Given the description of an element on the screen output the (x, y) to click on. 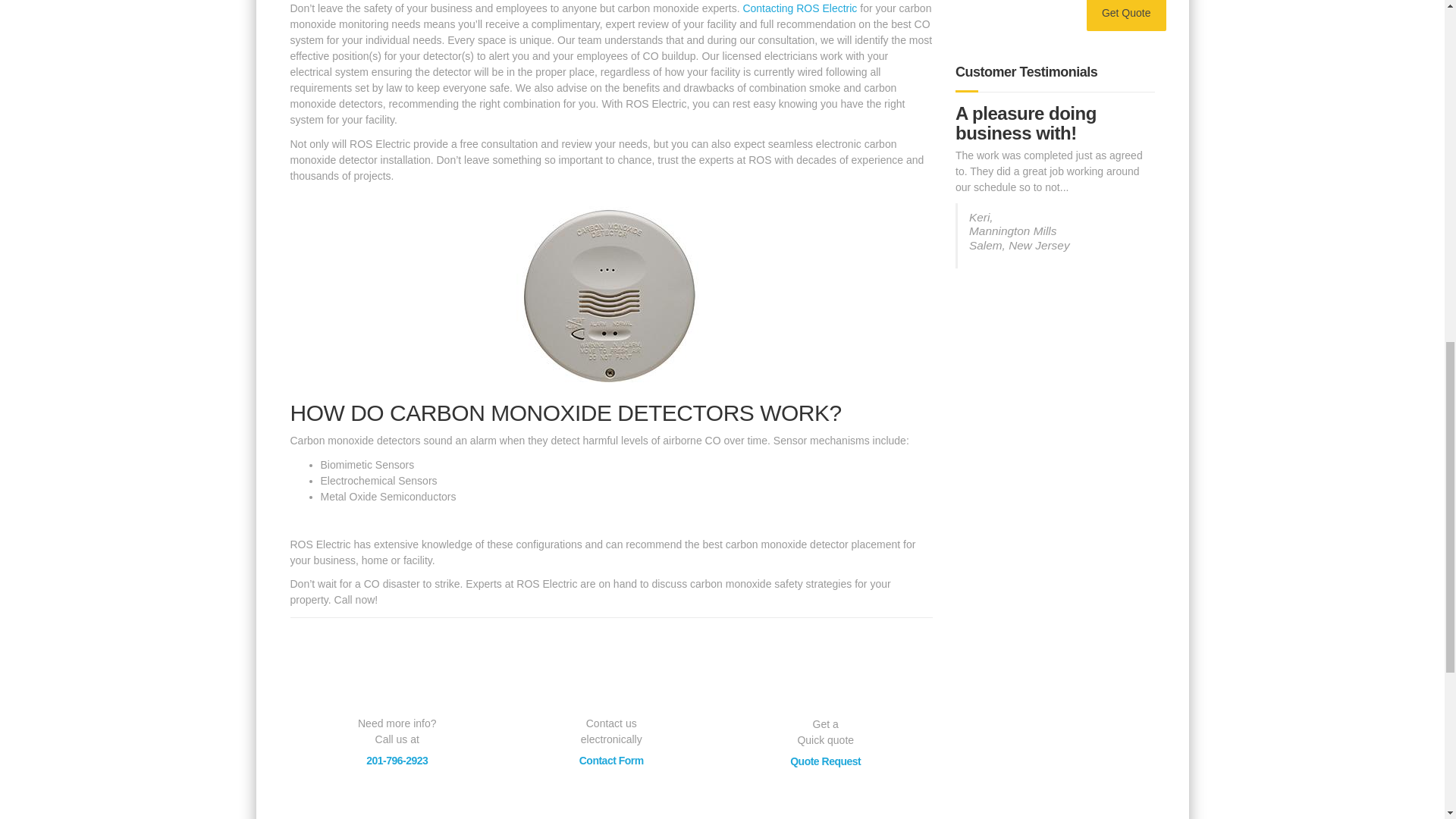
Contact Form (611, 760)
Get Quote (1126, 15)
Contacting ROS Electric (799, 8)
Quote Request (825, 761)
Get Quote (1126, 15)
201-796-2923 (397, 760)
